Given the description of an element on the screen output the (x, y) to click on. 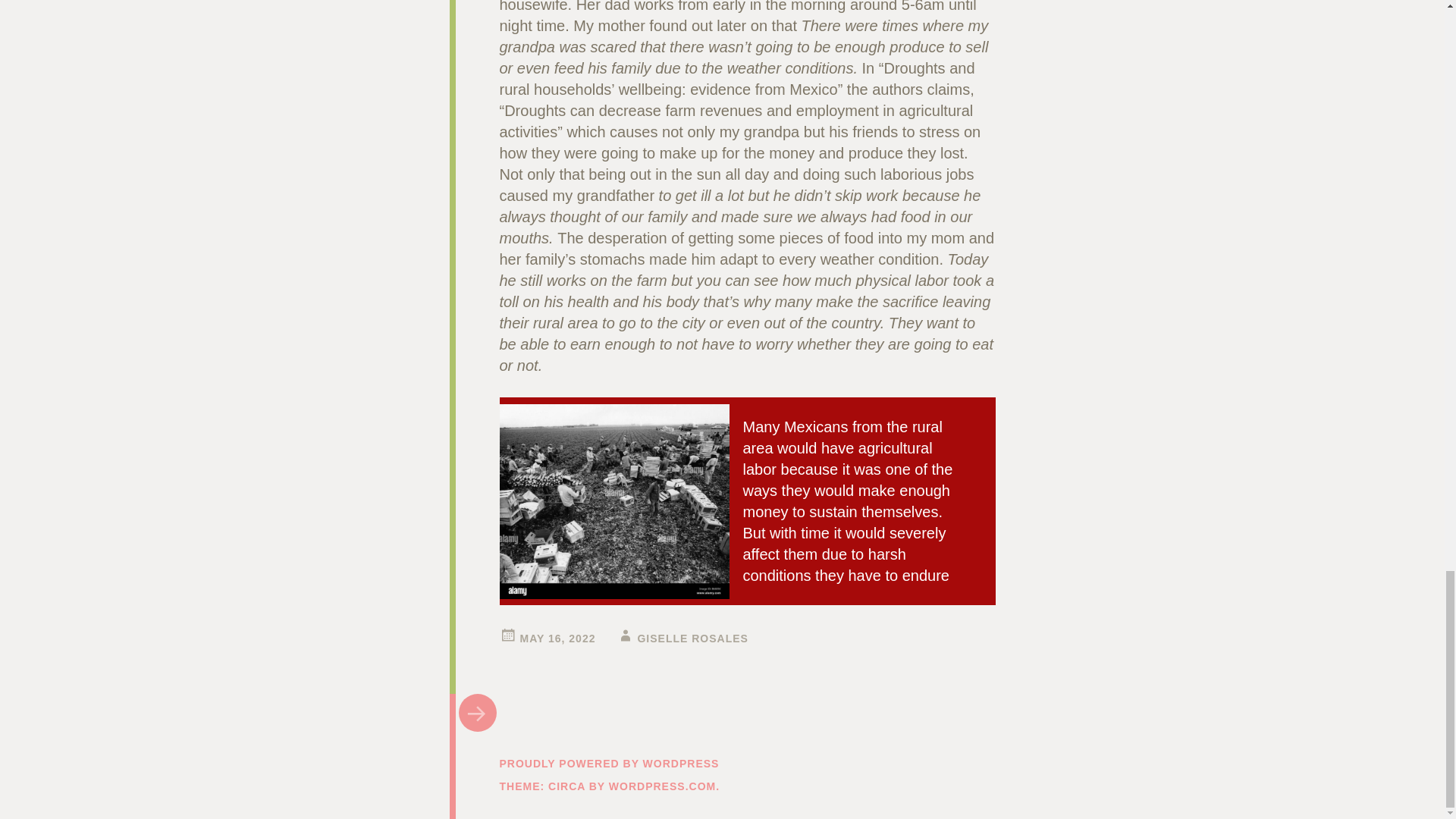
MAY 16, 2022 (557, 638)
WORDPRESS.COM (662, 786)
PROUDLY POWERED BY WORDPRESS (609, 763)
GISELLE ROSALES (692, 638)
